Given the description of an element on the screen output the (x, y) to click on. 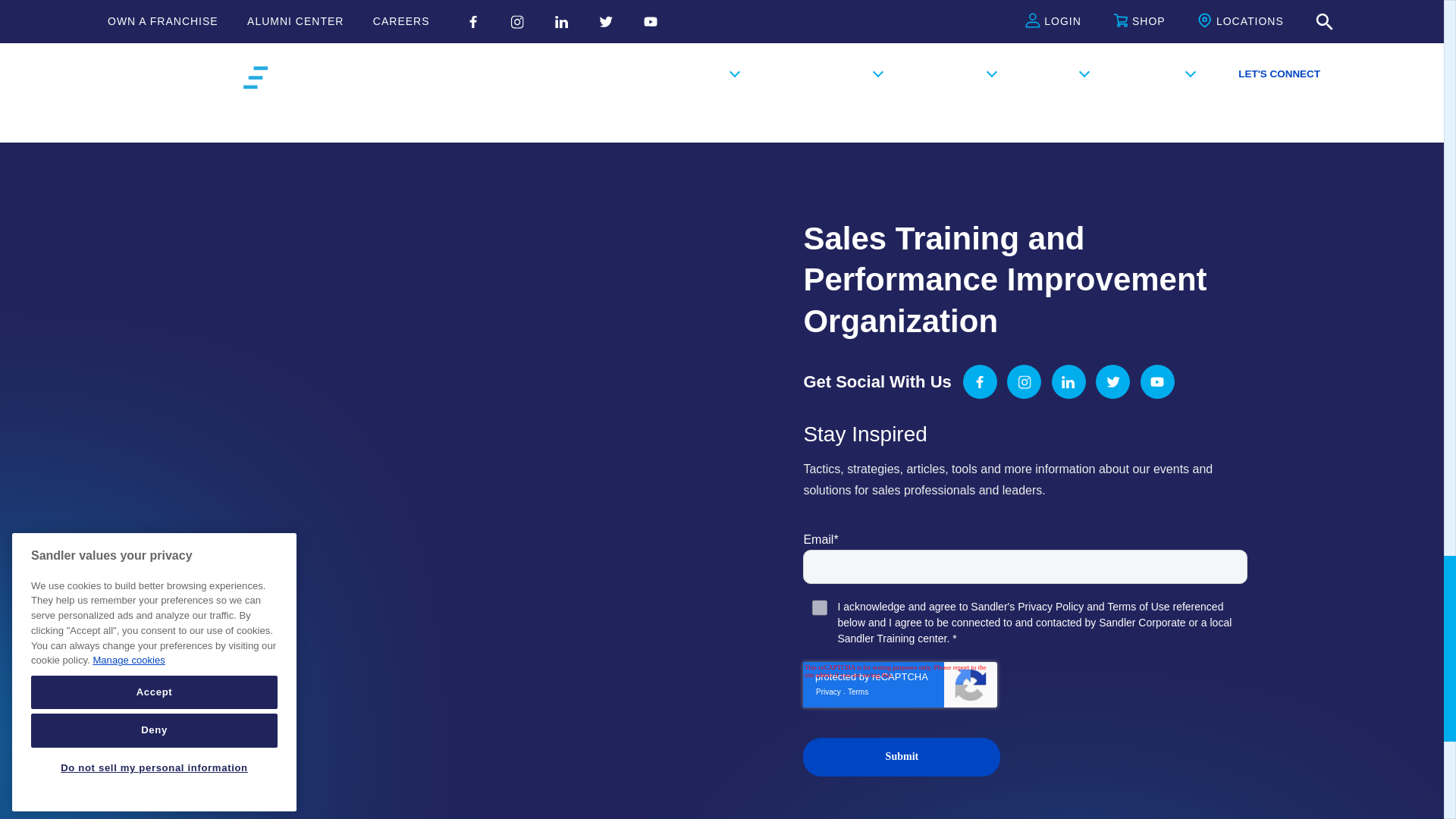
Submit (901, 756)
true (819, 607)
reCAPTCHA (900, 683)
